Given the description of an element on the screen output the (x, y) to click on. 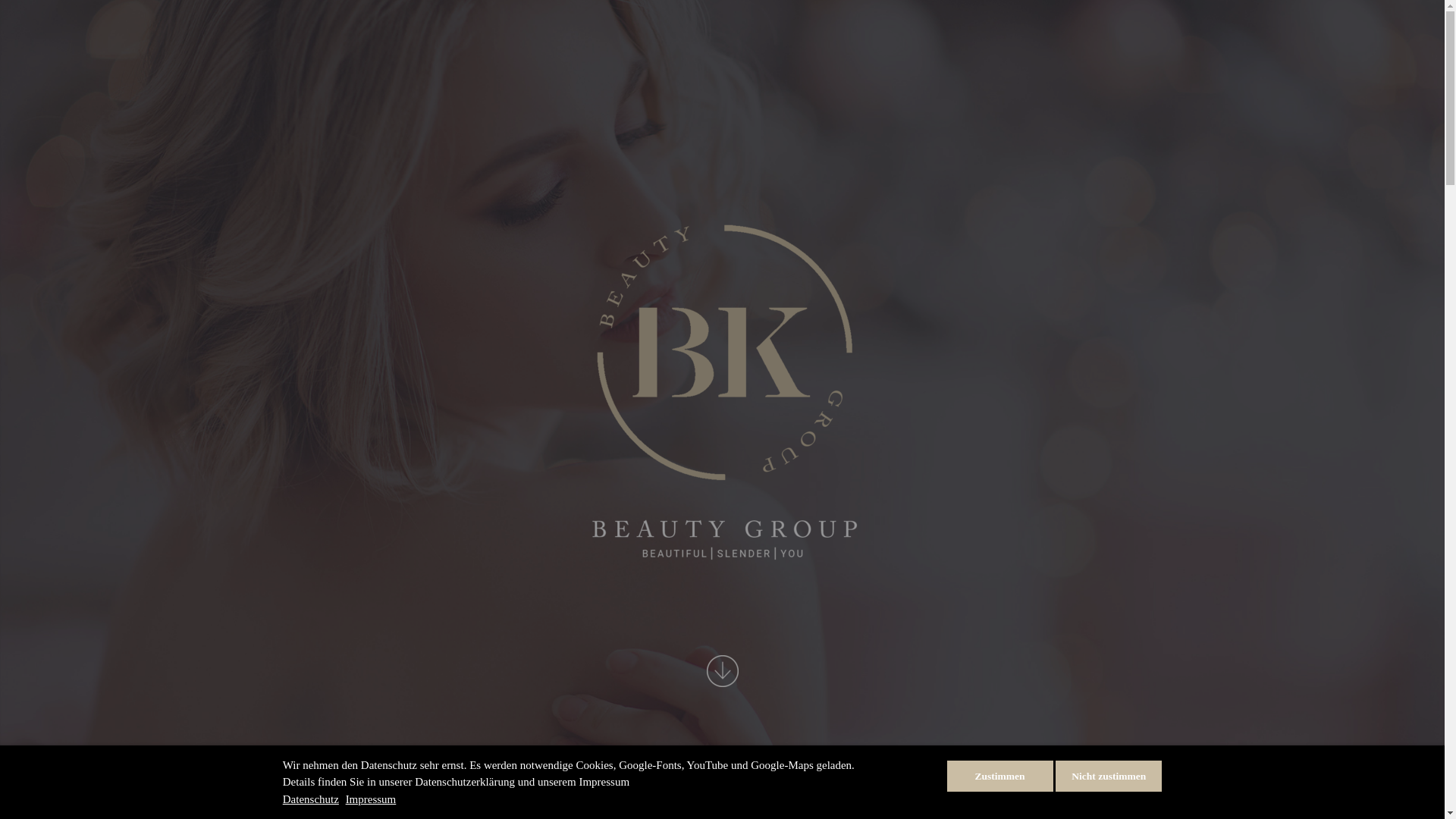
PFLEGEPRODUKTE Element type: text (920, 487)
Nicht zustimmen Element type: text (1108, 774)
BEHANDLUNGEN Element type: text (1089, 487)
LETS START Element type: hover (722, 674)
MEHR ERFAHREN Element type: text (1082, 585)
Impressum Element type: text (370, 799)
Zustimmen Element type: text (999, 774)
Datenschutz Element type: text (310, 799)
